Given the description of an element on the screen output the (x, y) to click on. 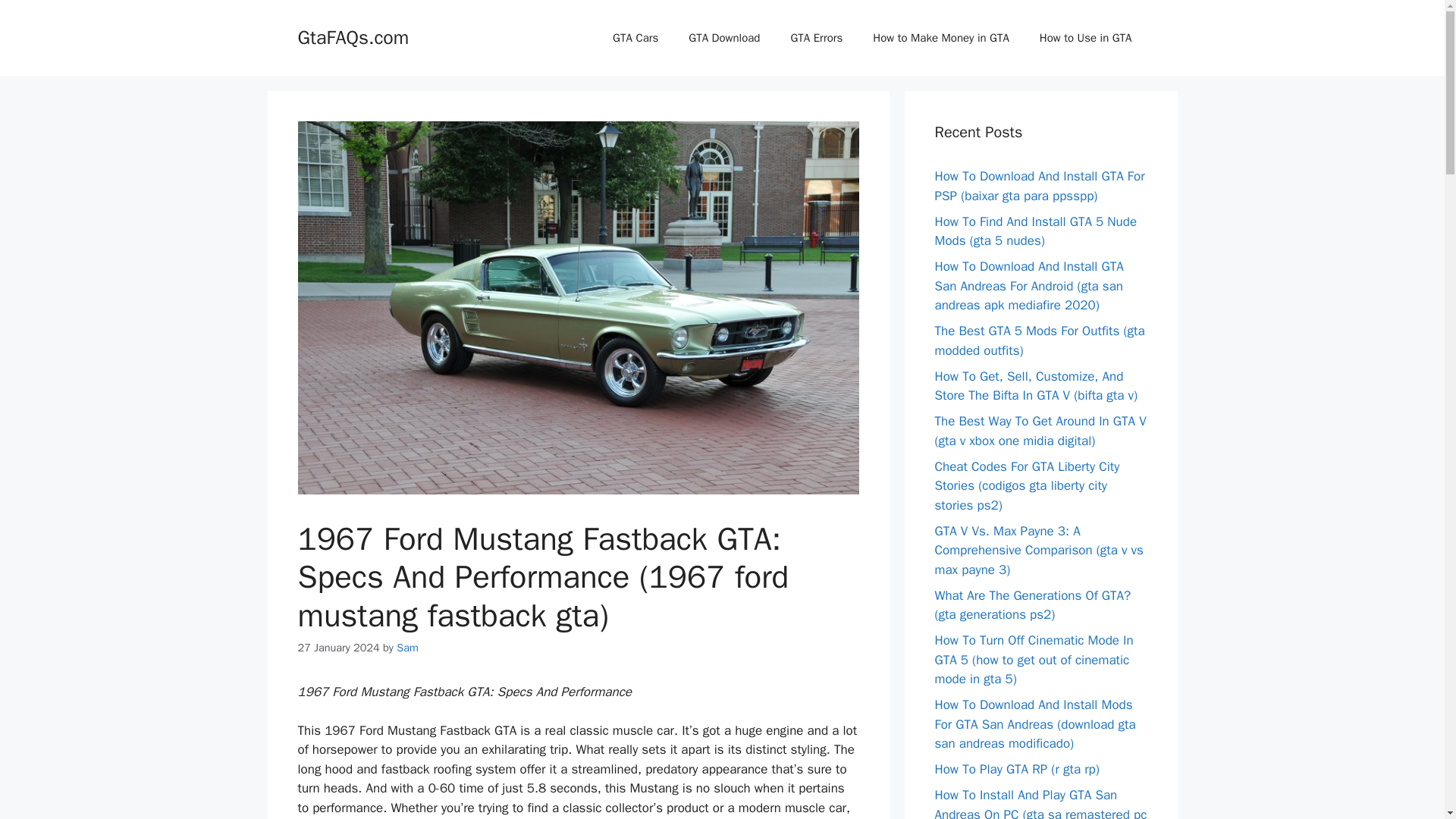
Sam (407, 647)
GTA Cars (634, 37)
How to Use in GTA (1086, 37)
How to Make Money in GTA (941, 37)
View all posts by Sam (407, 647)
GtaFAQs.com (353, 37)
GTA Errors (815, 37)
GTA Download (723, 37)
